Given the description of an element on the screen output the (x, y) to click on. 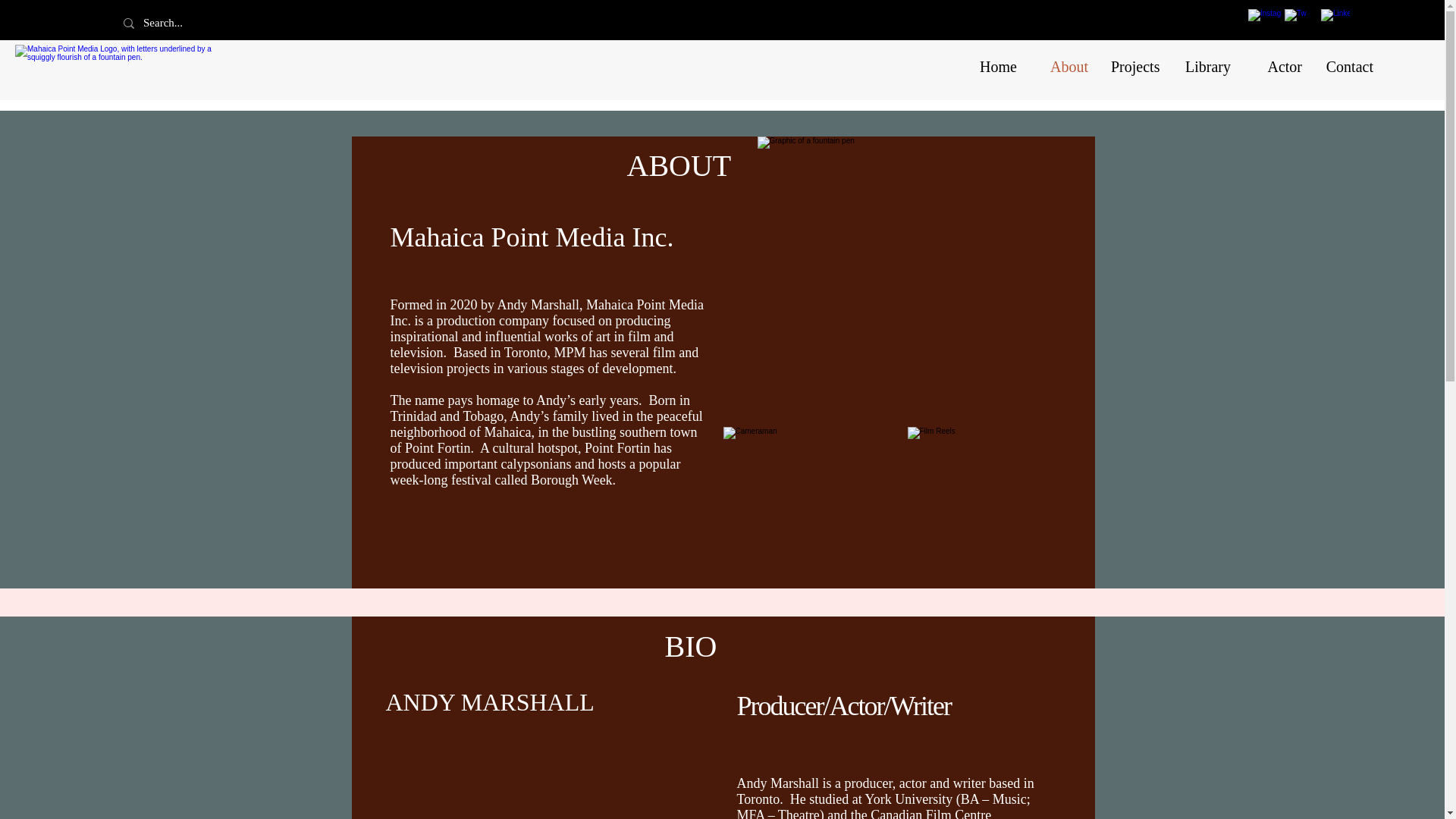
Library (1205, 66)
Contact (1348, 66)
Actor (1277, 66)
Projects (1134, 66)
Home (991, 66)
About (1063, 66)
